Given the description of an element on the screen output the (x, y) to click on. 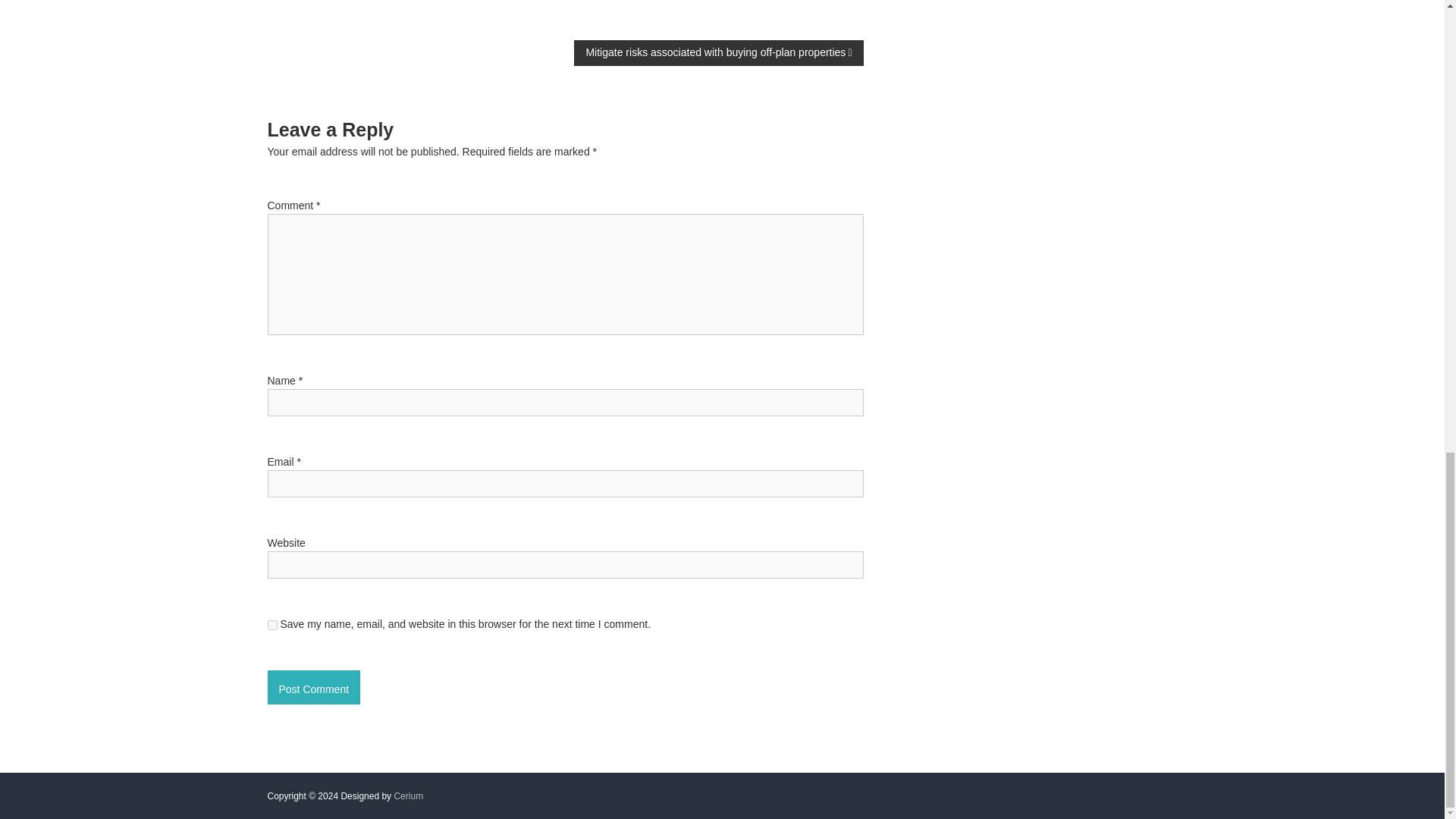
Post Comment (312, 687)
Mitigate risks associated with buying off-plan properties (718, 53)
Cerium (408, 796)
Post Comment (312, 687)
yes (271, 624)
